Given the description of an element on the screen output the (x, y) to click on. 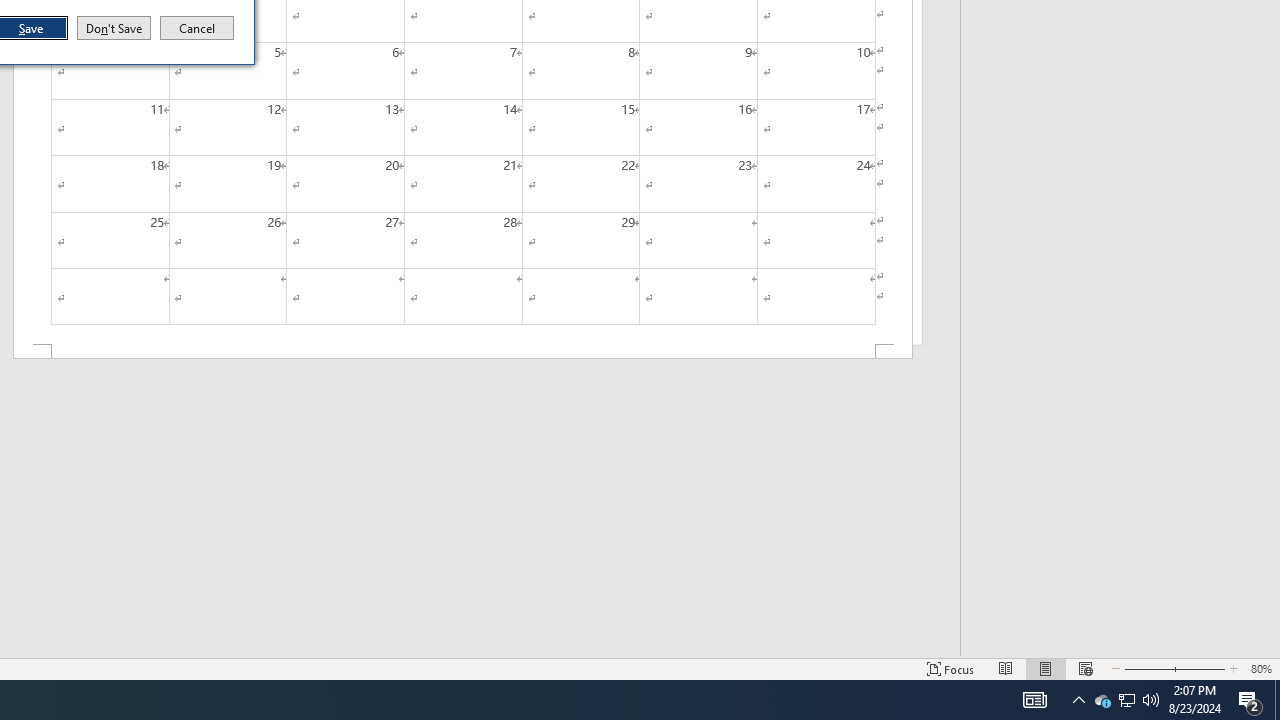
Notification Chevron (1078, 699)
AutomationID: 4105 (1034, 699)
Action Center, 2 new notifications (1250, 699)
Don't Save (113, 27)
